Given the description of an element on the screen output the (x, y) to click on. 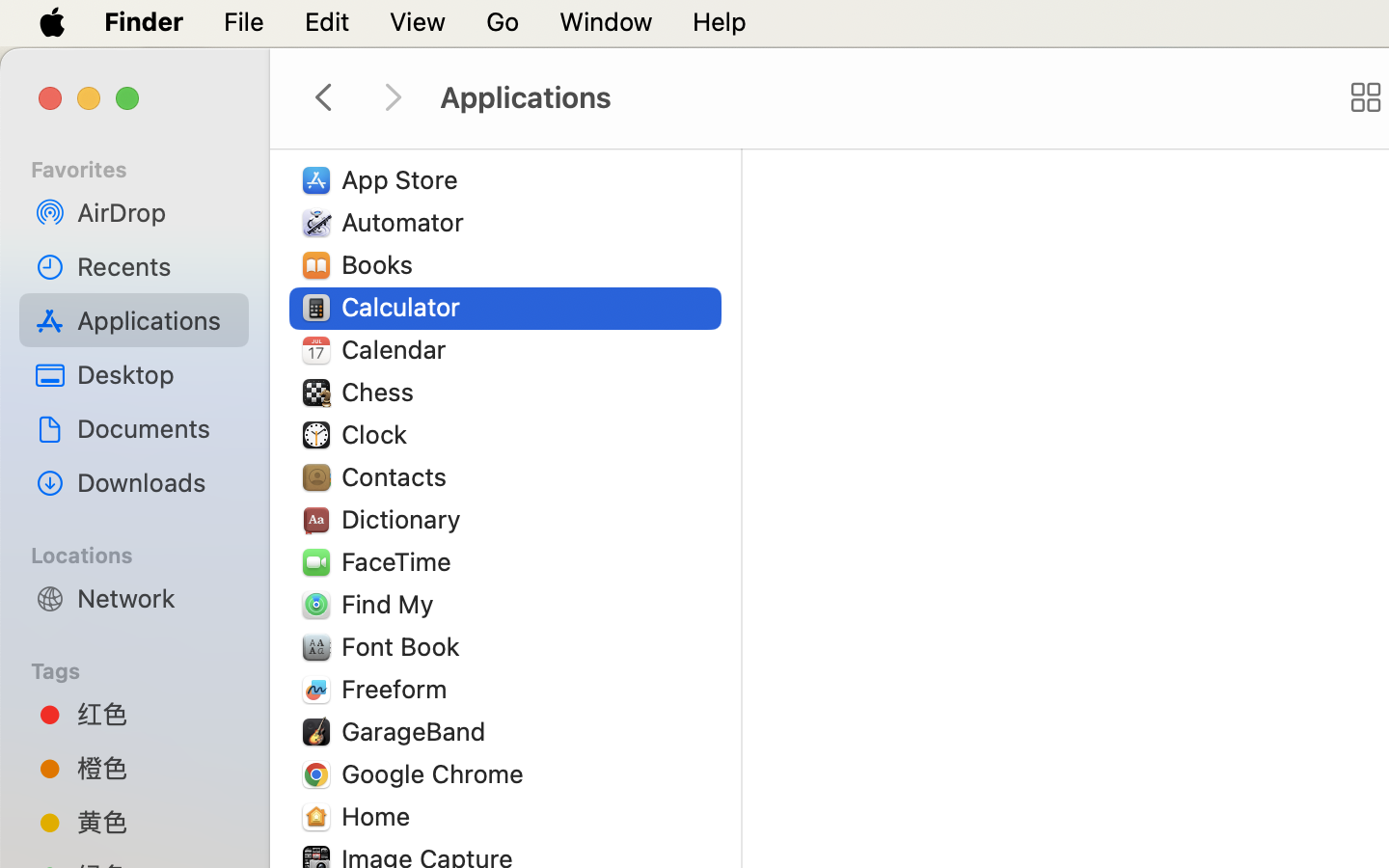
AirDrop Element type: AXStaticText (155, 211)
黄色 Element type: AXStaticText (155, 821)
Downloads Element type: AXStaticText (155, 481)
Dictionary Element type: AXTextField (404, 518)
Desktop Element type: AXStaticText (155, 373)
